Given the description of an element on the screen output the (x, y) to click on. 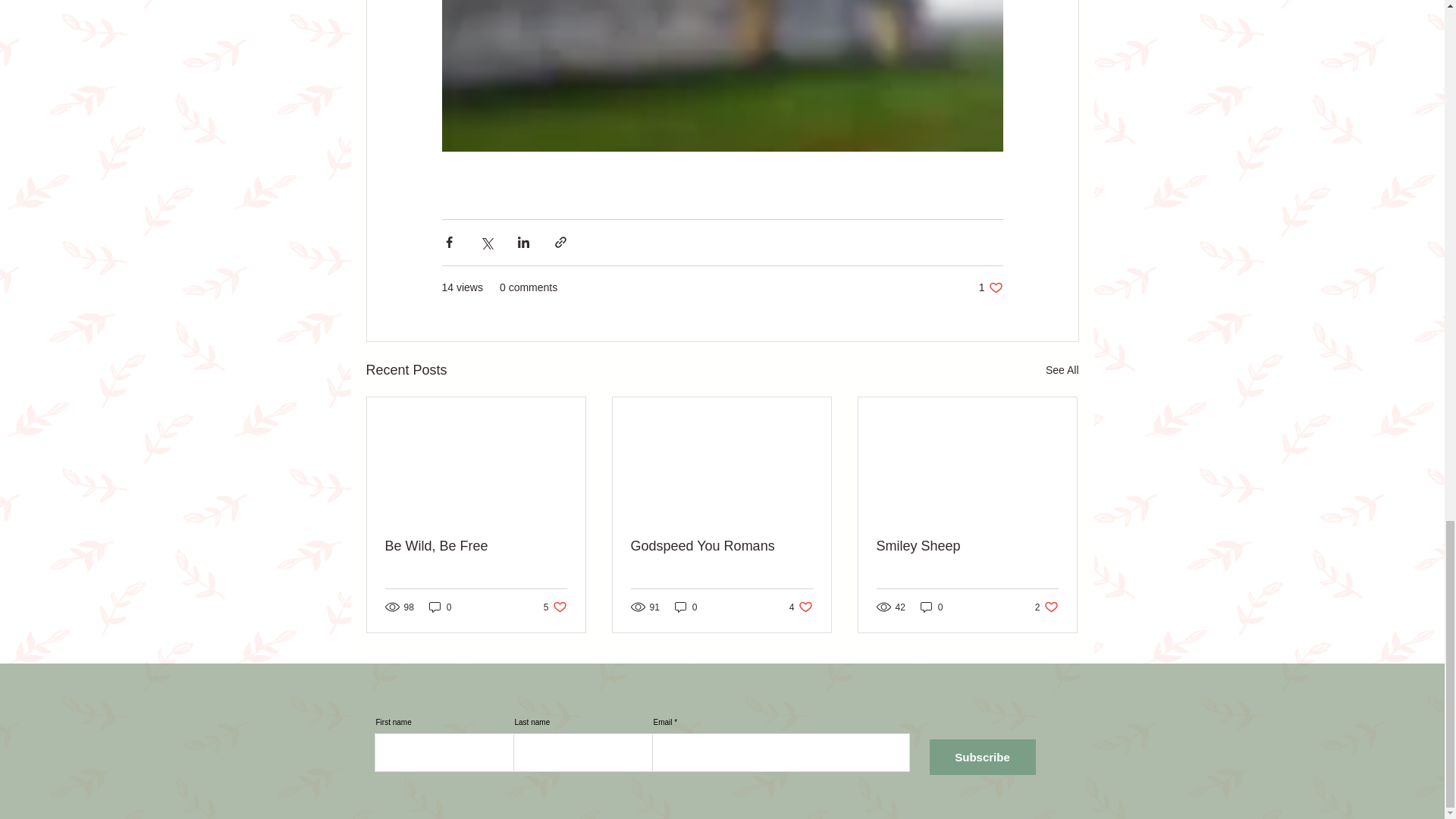
See All (1061, 370)
0 (800, 606)
Be Wild, Be Free (990, 287)
0 (685, 606)
Godspeed You Romans (555, 606)
Smiley Sheep (476, 546)
0 (931, 606)
